Given the description of an element on the screen output the (x, y) to click on. 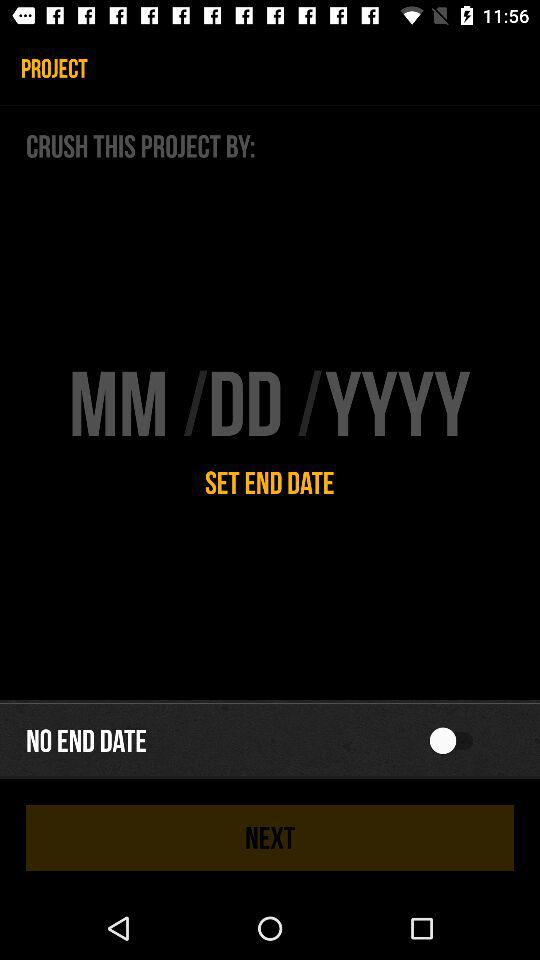
turn on the icon below no end date item (269, 837)
